Given the description of an element on the screen output the (x, y) to click on. 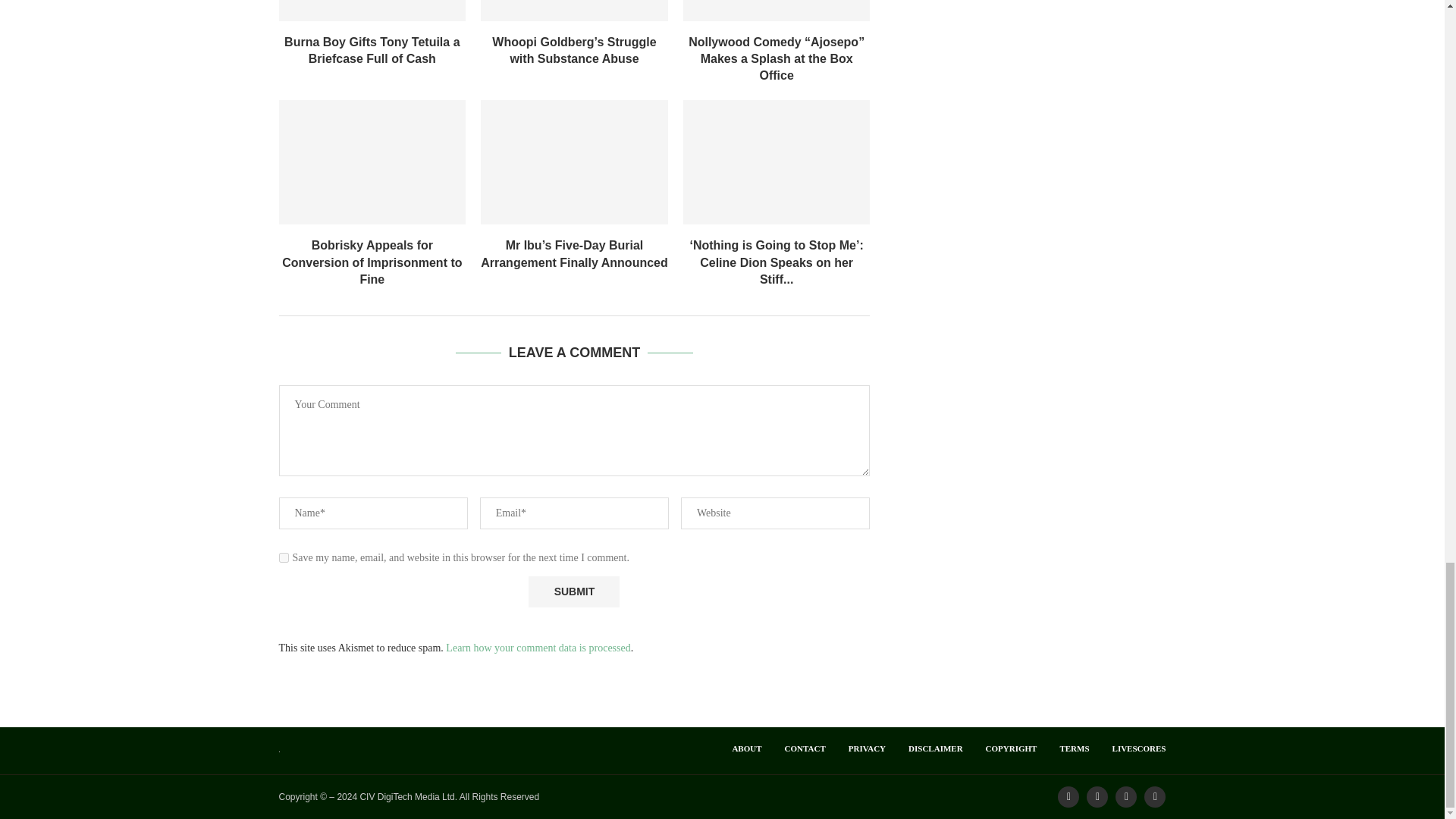
Submit (574, 591)
Bobrisky Appeals for Conversion of Imprisonment to Fine (372, 161)
Burna Boy Gifts Tony Tetuila a Briefcase Full of Cash (372, 10)
yes (283, 557)
